Given the description of an element on the screen output the (x, y) to click on. 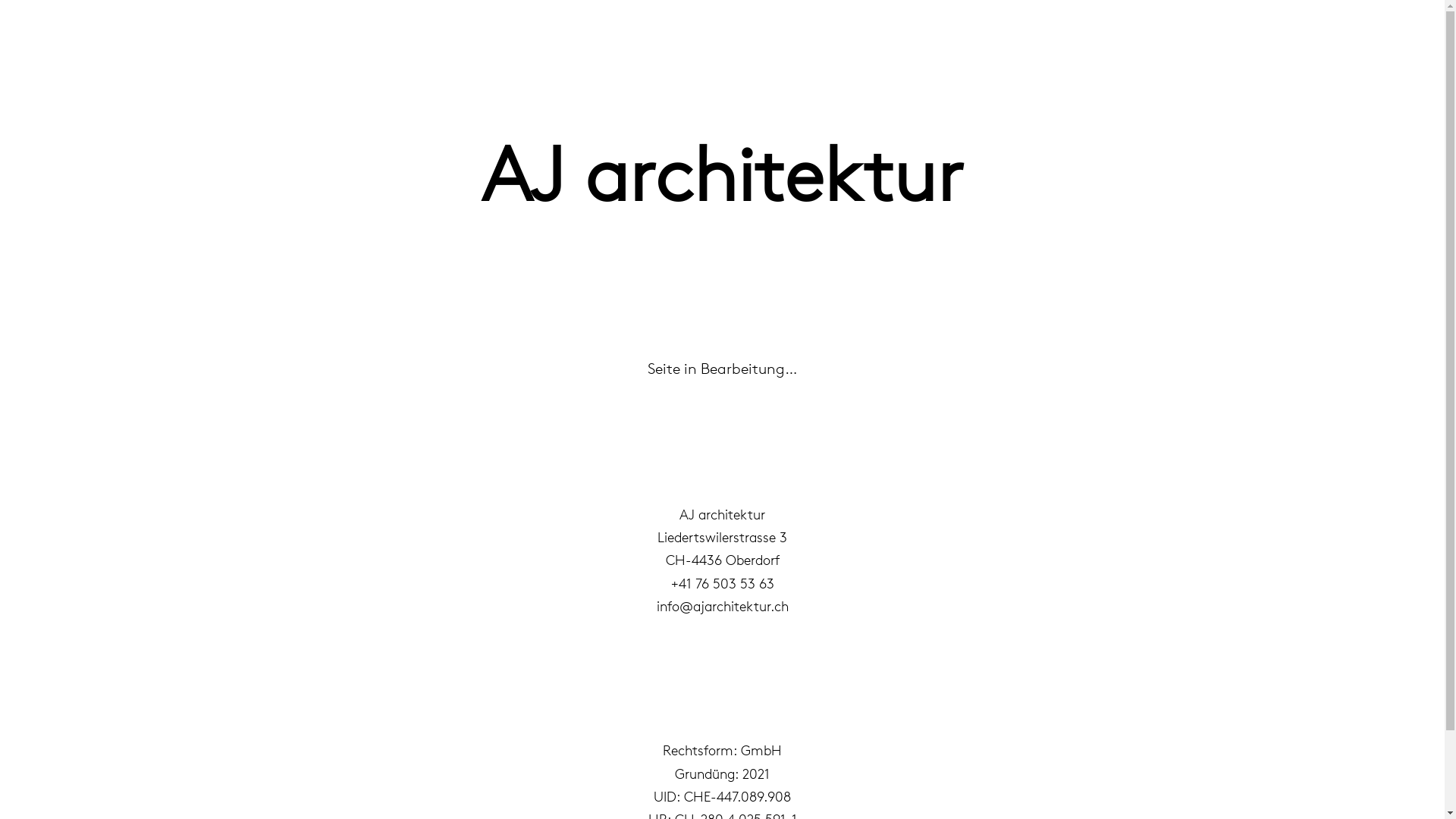
+41 76 503 53 63 Element type: text (721, 583)
Zum Inhalt springen Element type: text (15, 31)
info@ajarchitektur.ch Element type: text (722, 606)
